Given the description of an element on the screen output the (x, y) to click on. 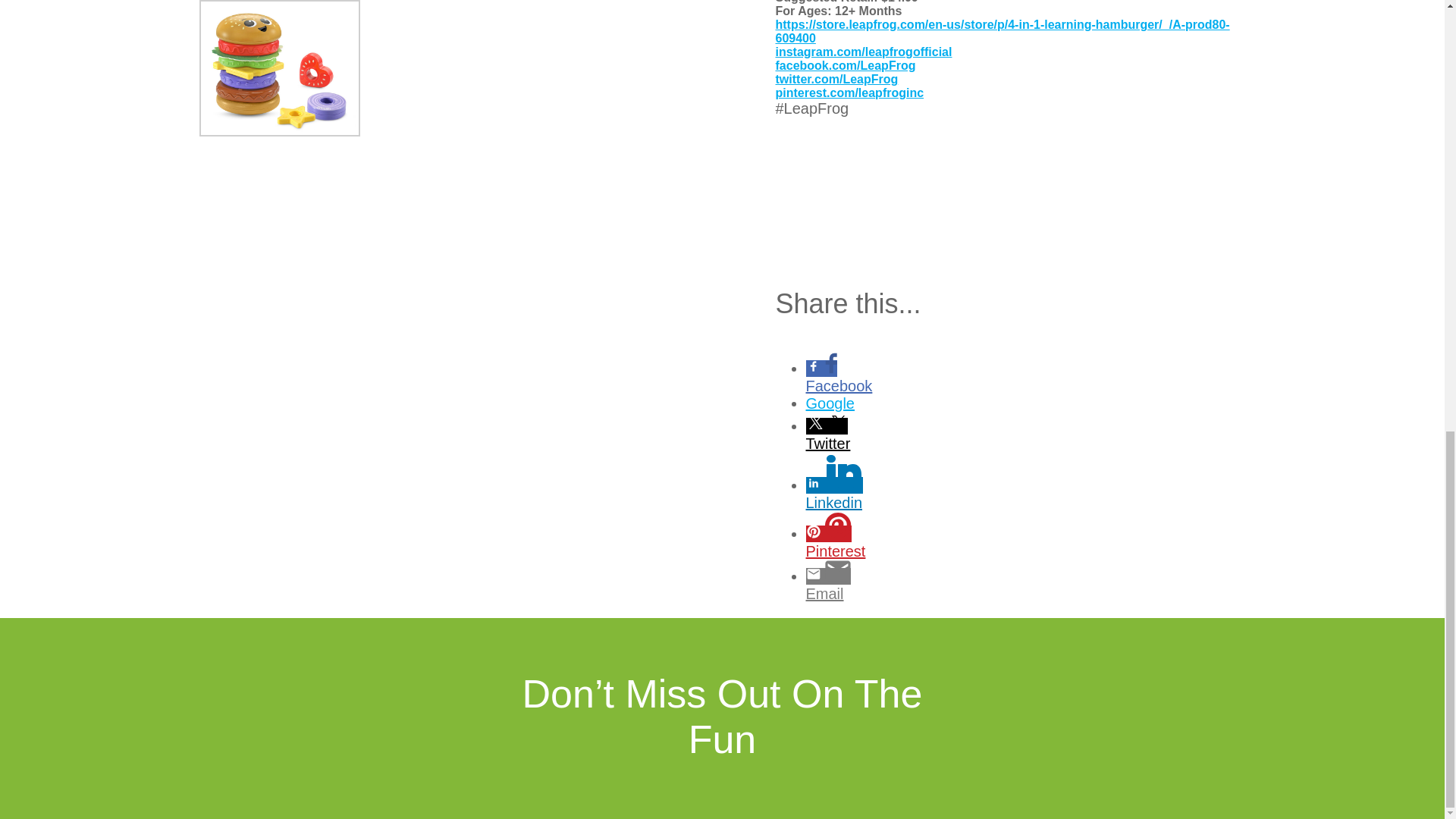
Pinterest (862, 551)
Facebook (862, 385)
Twitter (862, 443)
Linkedin (862, 502)
Google (862, 403)
Email (862, 593)
